Given the description of an element on the screen output the (x, y) to click on. 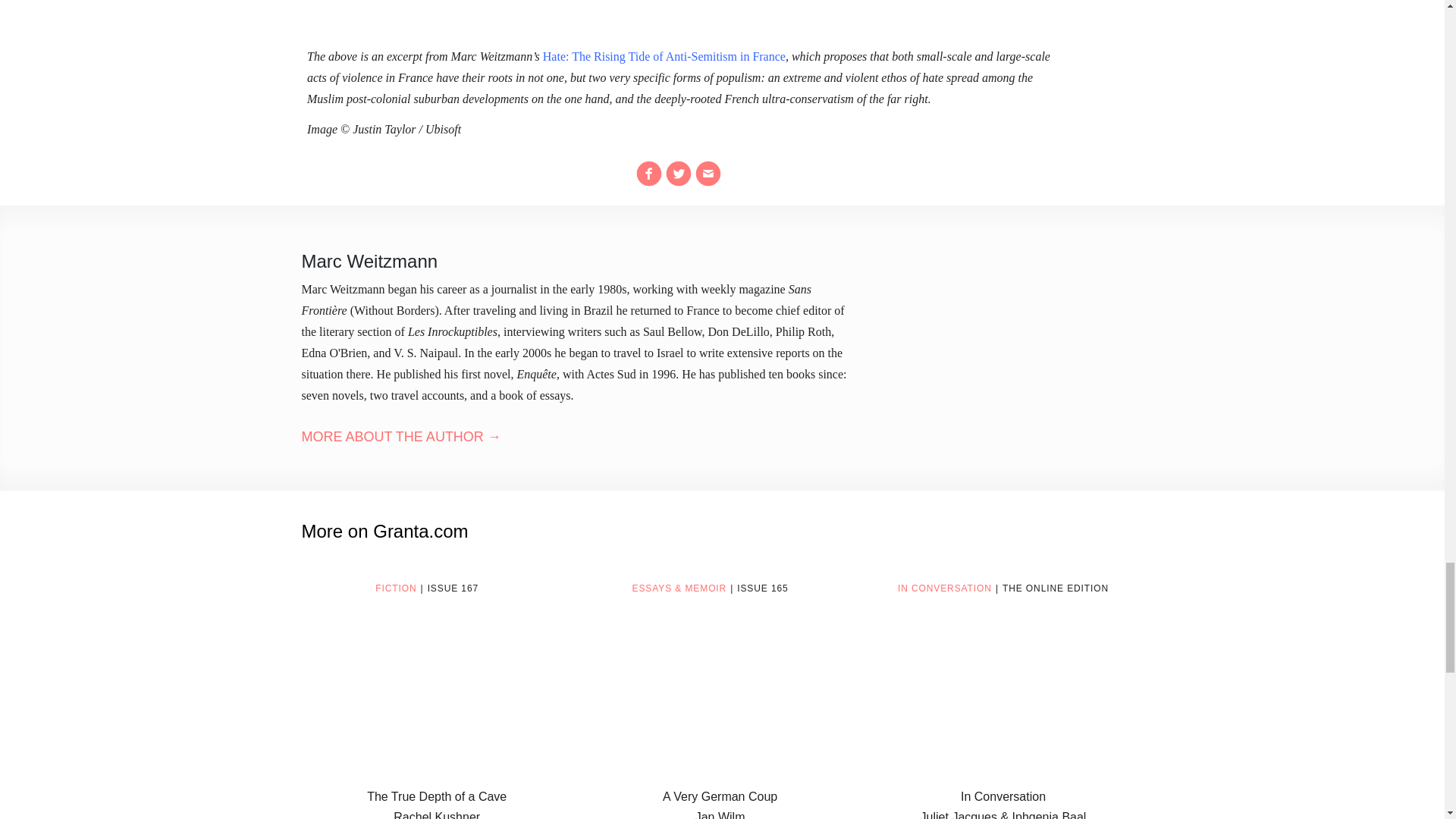
facebook-with-circle Created with Sketch. (649, 173)
twitter-with-circle Created with Sketch. (678, 173)
mail-with-circle Created with Sketch. (707, 173)
